Given the description of an element on the screen output the (x, y) to click on. 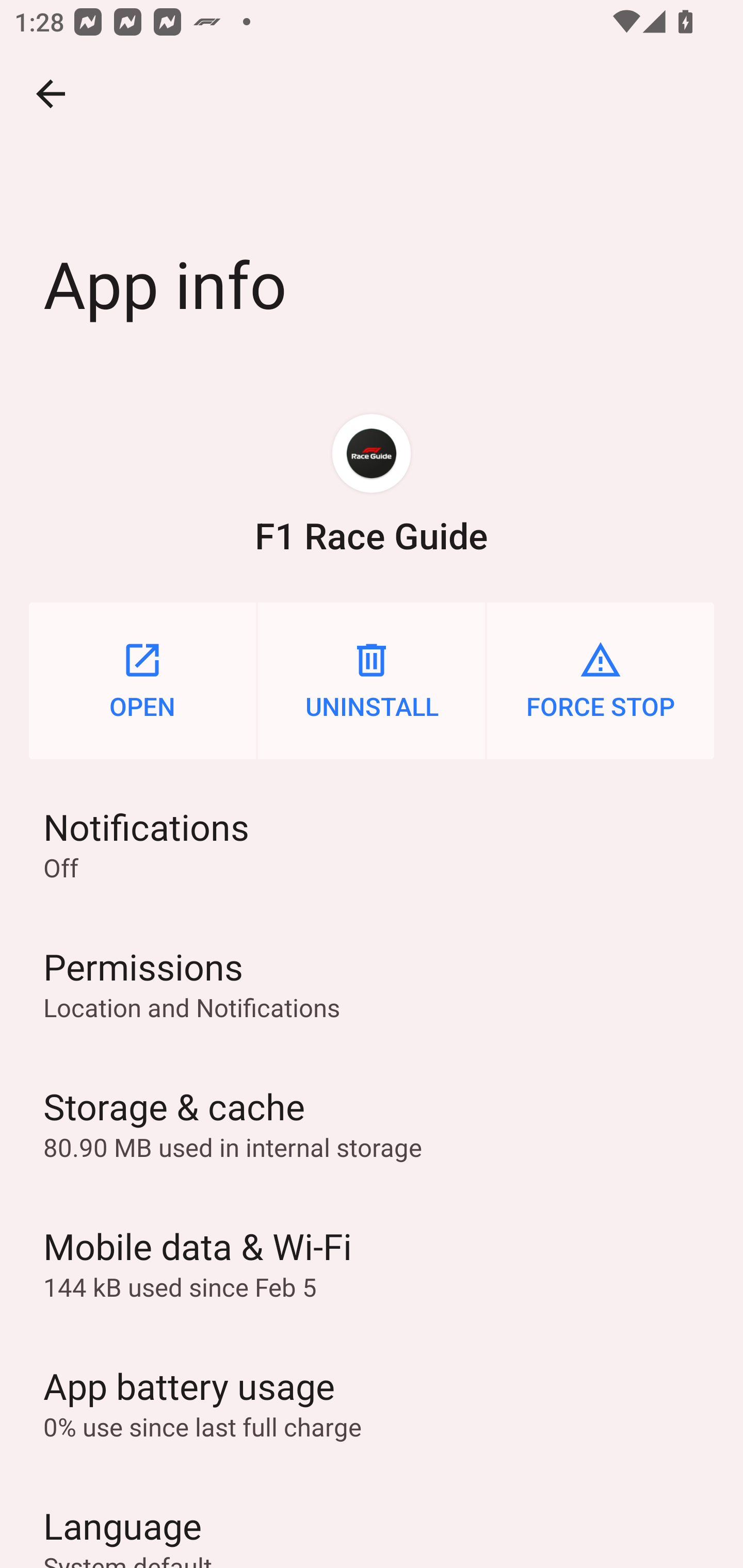
Navigate up (50, 93)
OPEN (141, 680)
UNINSTALL (371, 680)
FORCE STOP (600, 680)
Notifications Off (371, 843)
Permissions Location and Notifications (371, 983)
Storage & cache 80.90 MB used in internal storage (371, 1123)
Mobile data & Wi‑Fi 144 kB used since Feb 5 (371, 1262)
App battery usage 0% use since last full charge (371, 1402)
Language System default (371, 1520)
